Given the description of an element on the screen output the (x, y) to click on. 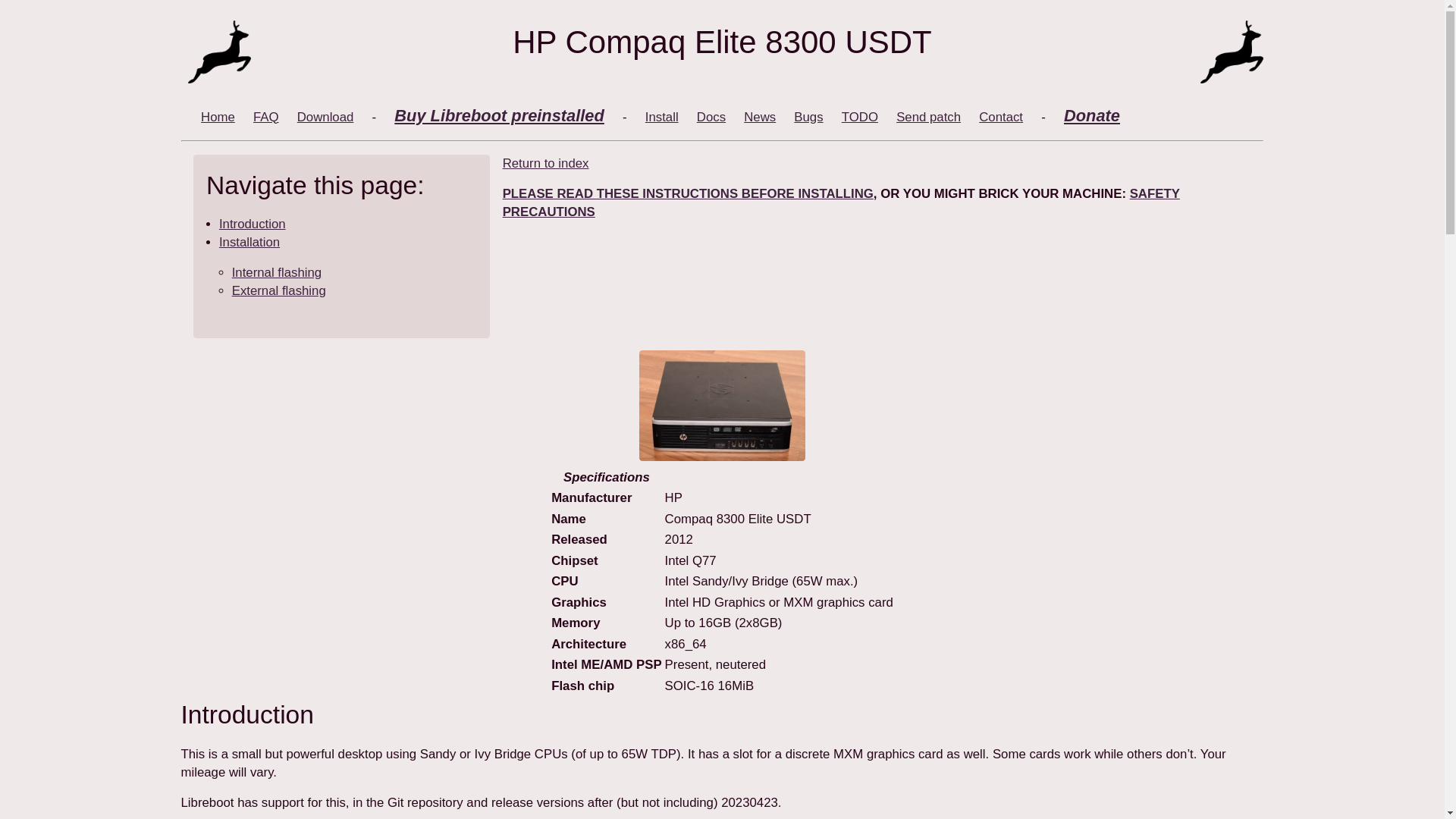
Send patch (928, 116)
TODO (859, 116)
Home (217, 116)
Buy Libreboot preinstalled (499, 115)
FAQ (266, 116)
News (760, 116)
Install (661, 116)
Internal flashing (276, 272)
External flashing (278, 290)
Bugs (807, 116)
Contact (1000, 116)
Docs (711, 116)
Introduction (252, 223)
Installation (249, 242)
Download (325, 116)
